Given the description of an element on the screen output the (x, y) to click on. 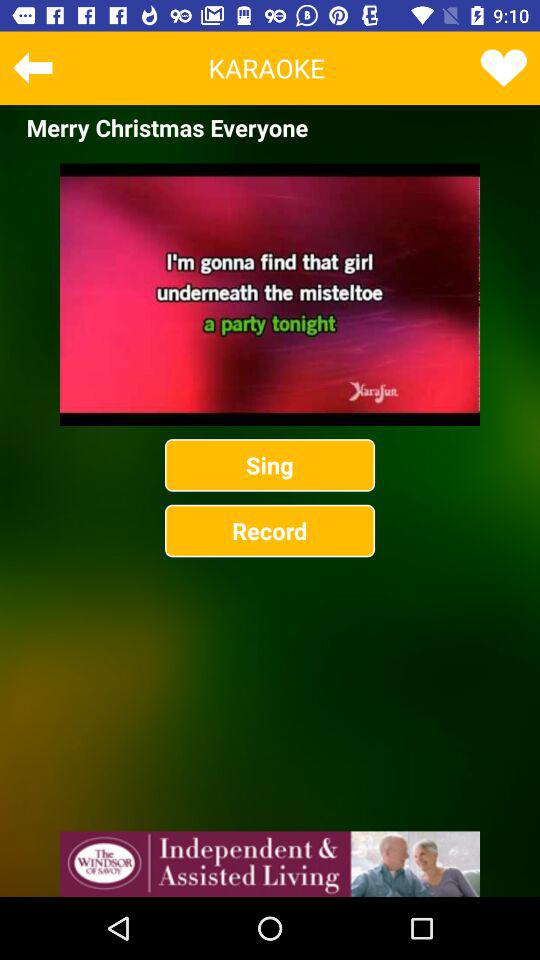
open advertisement (270, 864)
